Given the description of an element on the screen output the (x, y) to click on. 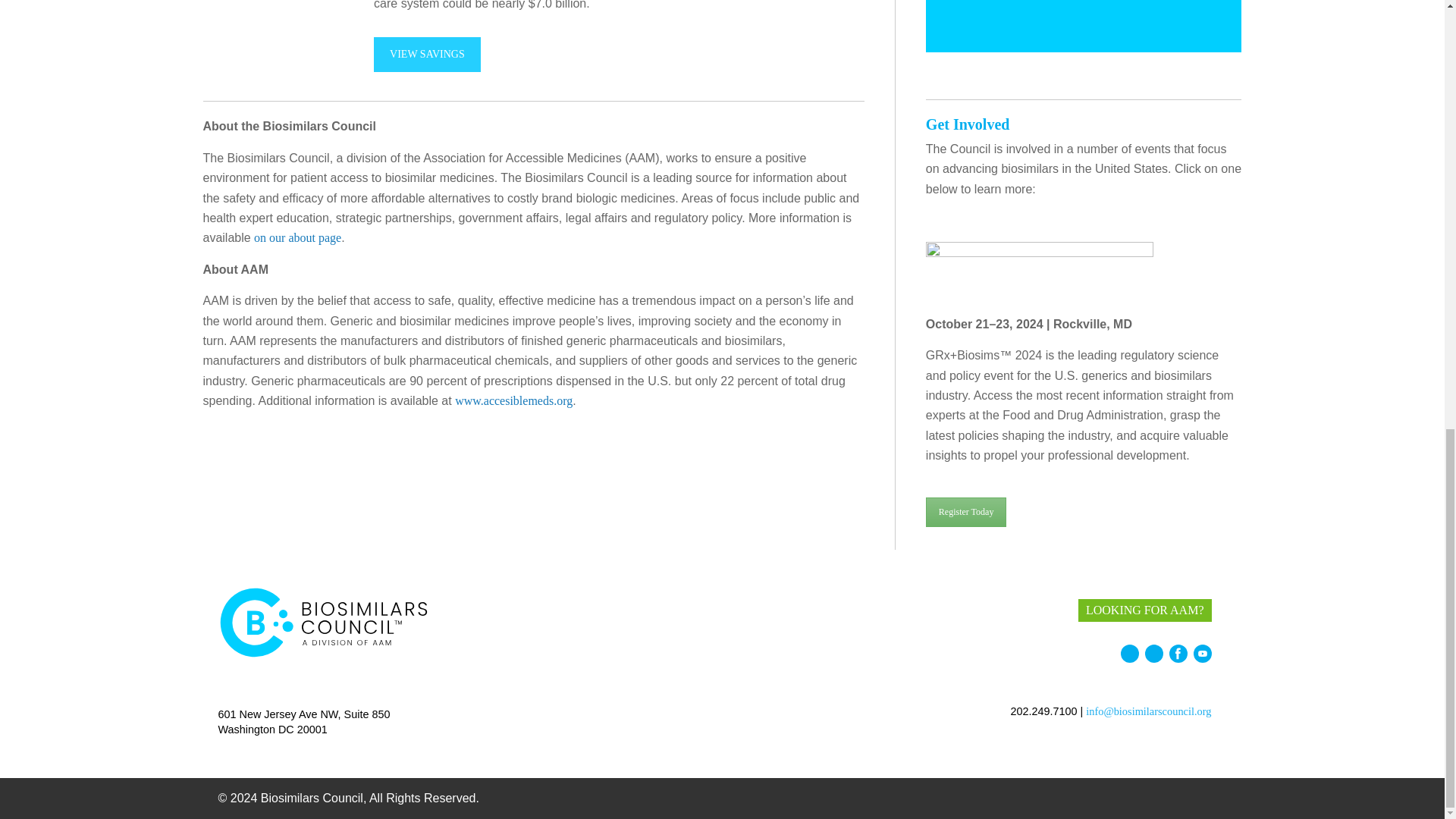
www.accesiblemeds.org (513, 400)
bio-logo (324, 623)
on our about page (296, 237)
PRESS RELEASES (930, 608)
RESOURCES (797, 608)
Register Today (966, 512)
EVENTS (732, 608)
BLOG (858, 608)
CONTACT (1016, 608)
ABOUT (604, 608)
